Given the description of an element on the screen output the (x, y) to click on. 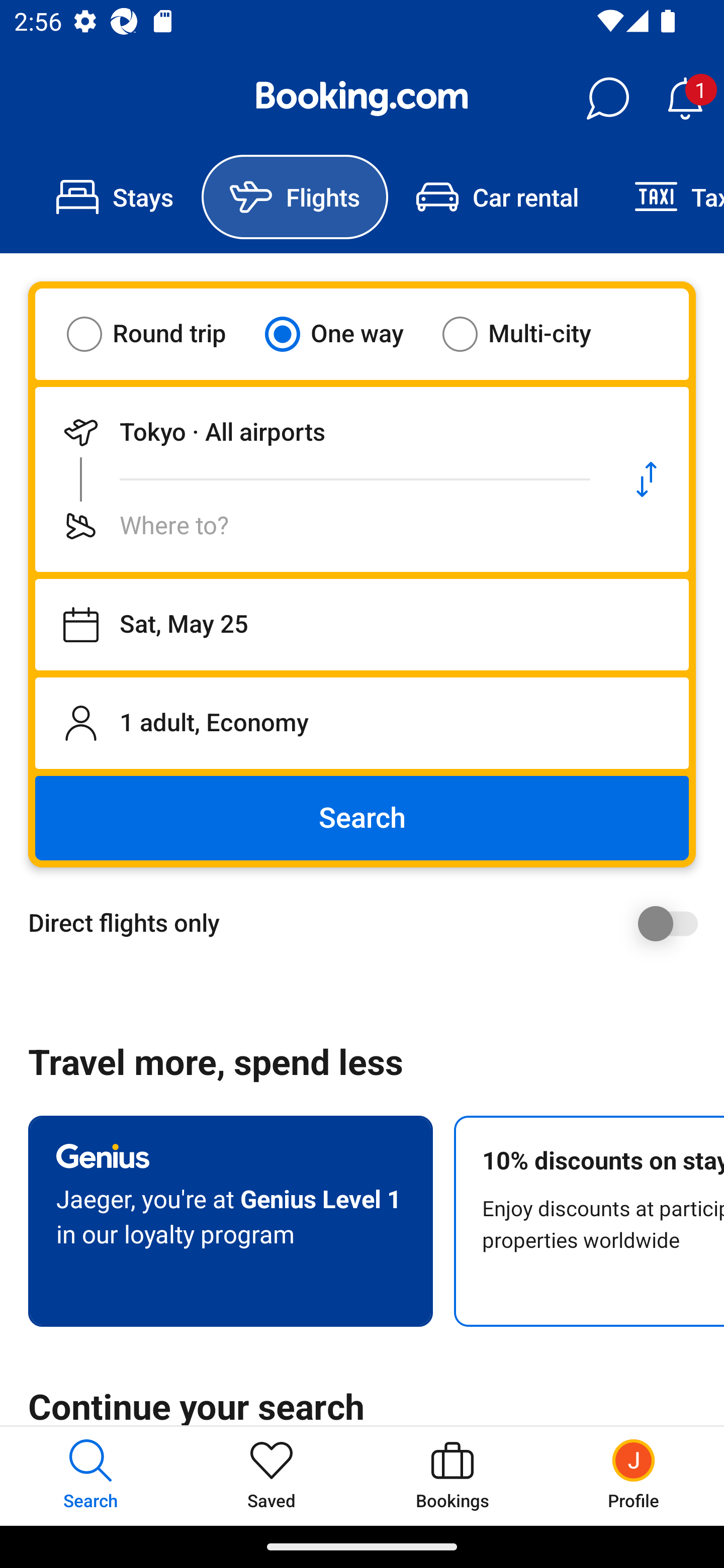
Messages (607, 98)
Notifications (685, 98)
Stays (114, 197)
Flights (294, 197)
Car rental (497, 197)
Taxi (665, 197)
Round trip (158, 333)
Multi-city (528, 333)
Departing from Tokyo · All airports (319, 432)
Swap departure location and destination (646, 479)
Flying to  (319, 525)
Departing on Sat, May 25 (361, 624)
1 adult, Economy (361, 722)
Search (361, 818)
Direct flights only (369, 923)
Saved (271, 1475)
Bookings (452, 1475)
Profile (633, 1475)
